Given the description of an element on the screen output the (x, y) to click on. 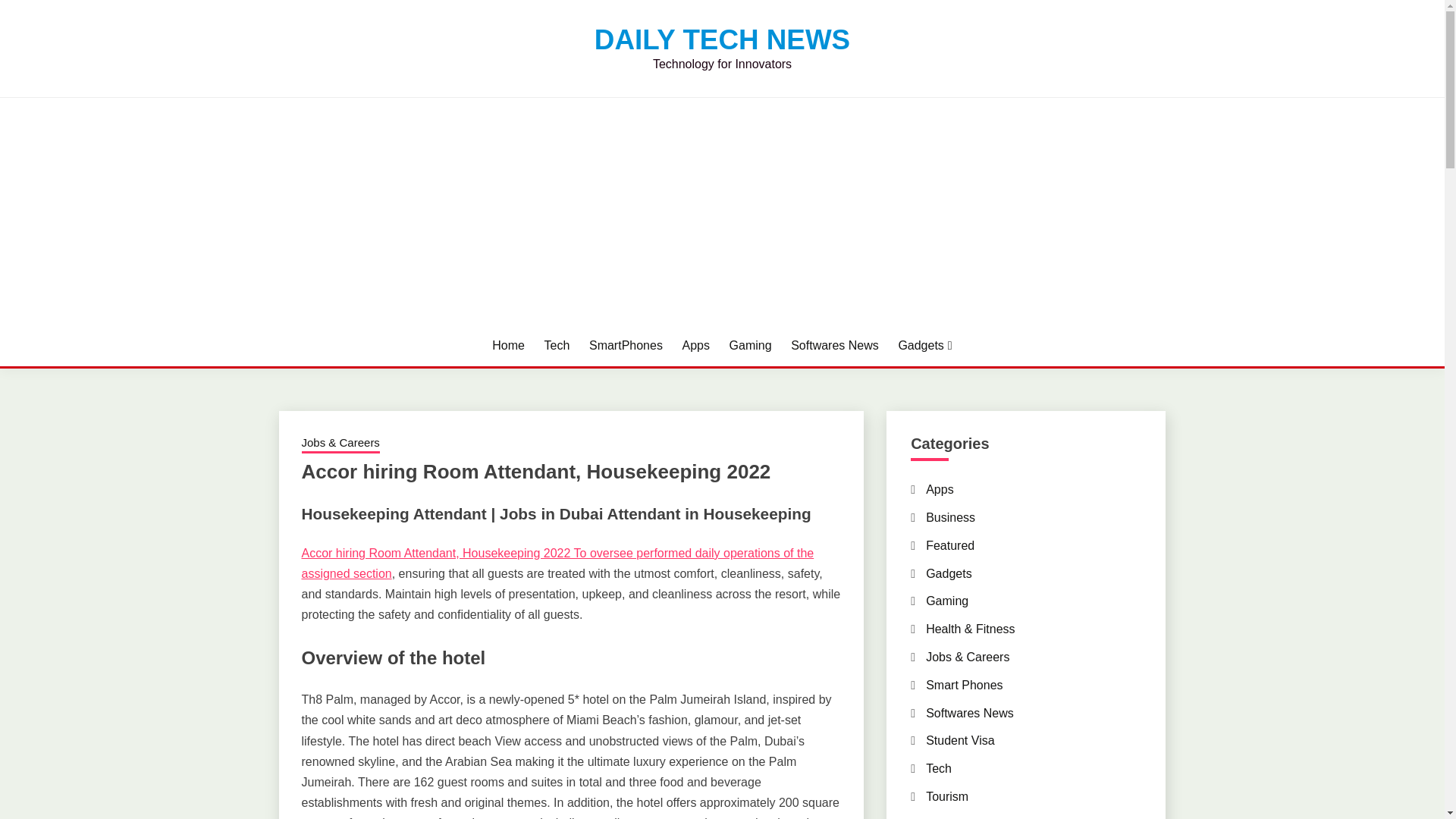
Softwares News (834, 345)
Smart Phones (964, 684)
DAILY TECH NEWS (722, 39)
Apps (939, 489)
Featured (950, 545)
Business (950, 517)
Gadgets (948, 573)
Softwares News (969, 712)
Gaming (750, 345)
Gaming (947, 600)
Tech (557, 345)
Home (508, 345)
SmartPhones (625, 345)
